Given the description of an element on the screen output the (x, y) to click on. 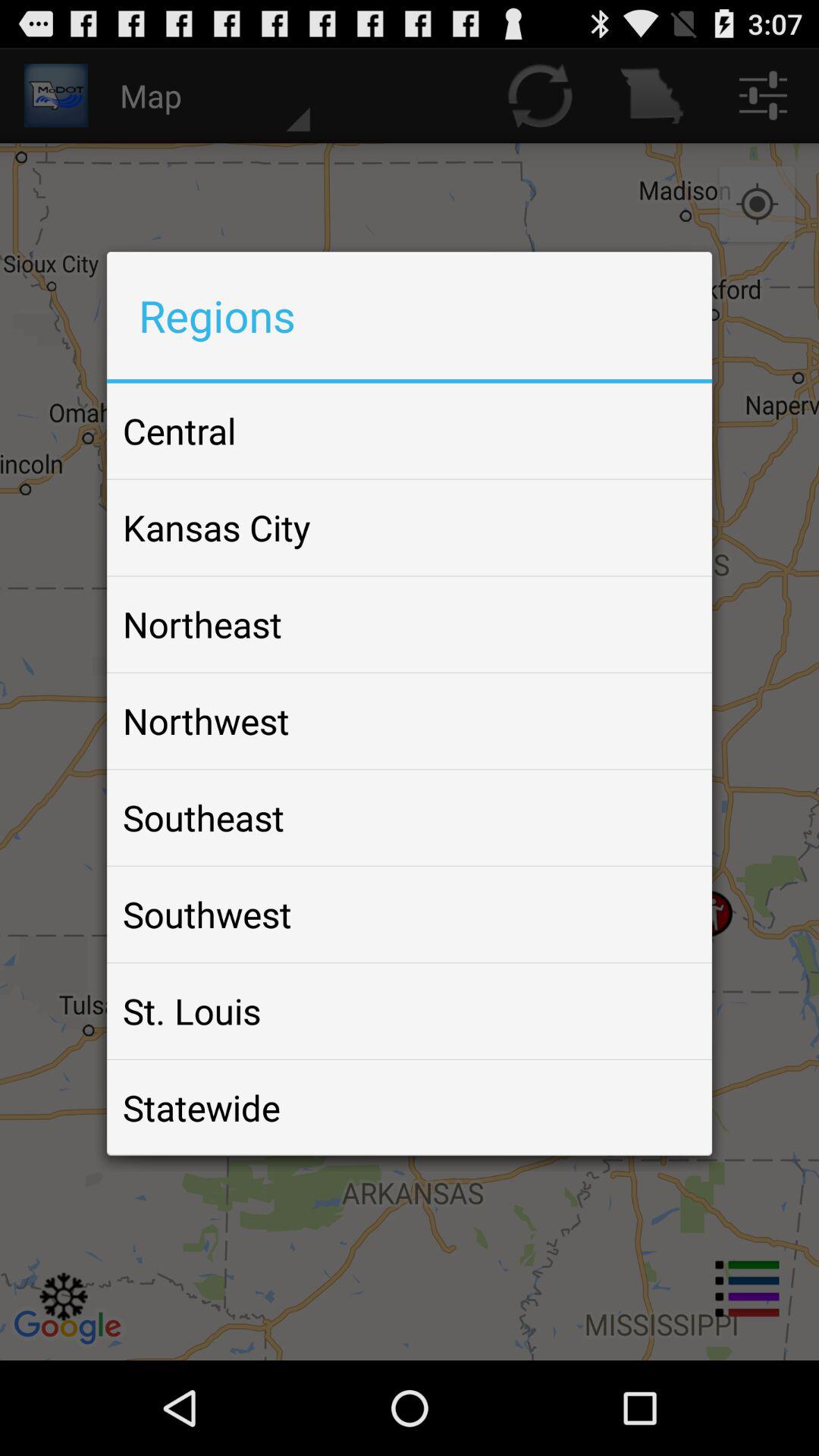
tap the central at the top left corner (179, 430)
